Given the description of an element on the screen output the (x, y) to click on. 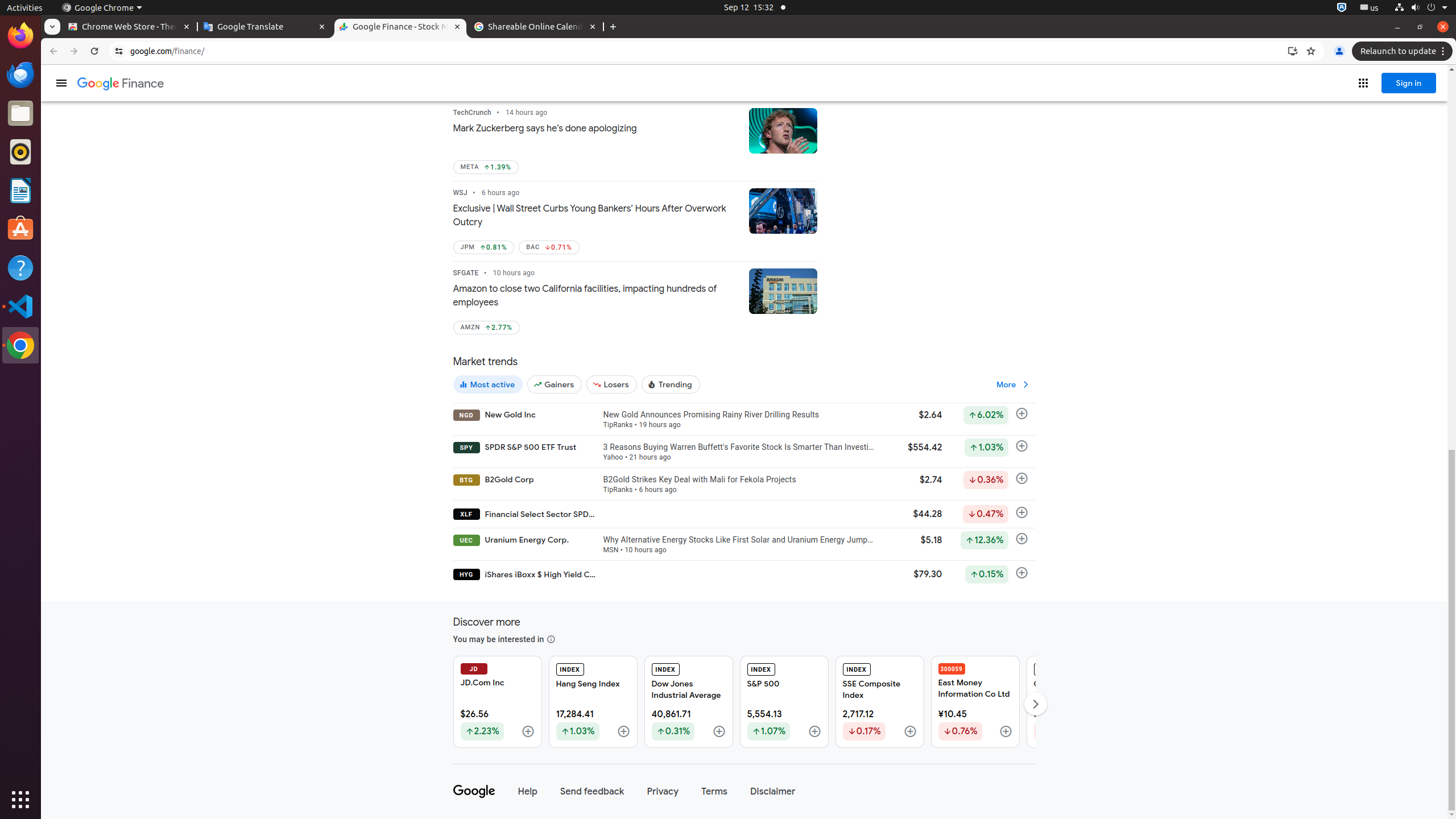
Google Chrome Element type: push-button (20, 344)
Main menu Element type: push-button (61, 82)
TechCrunch •  14 hours ago Mark Zuckerberg says he’s done apologizing Element type: link (595, 121)
Thunderbird Mail Element type: push-button (20, 74)
Google Translate - Memory usage - 77.6 MB Element type: page-tab (264, 26)
